Given the description of an element on the screen output the (x, y) to click on. 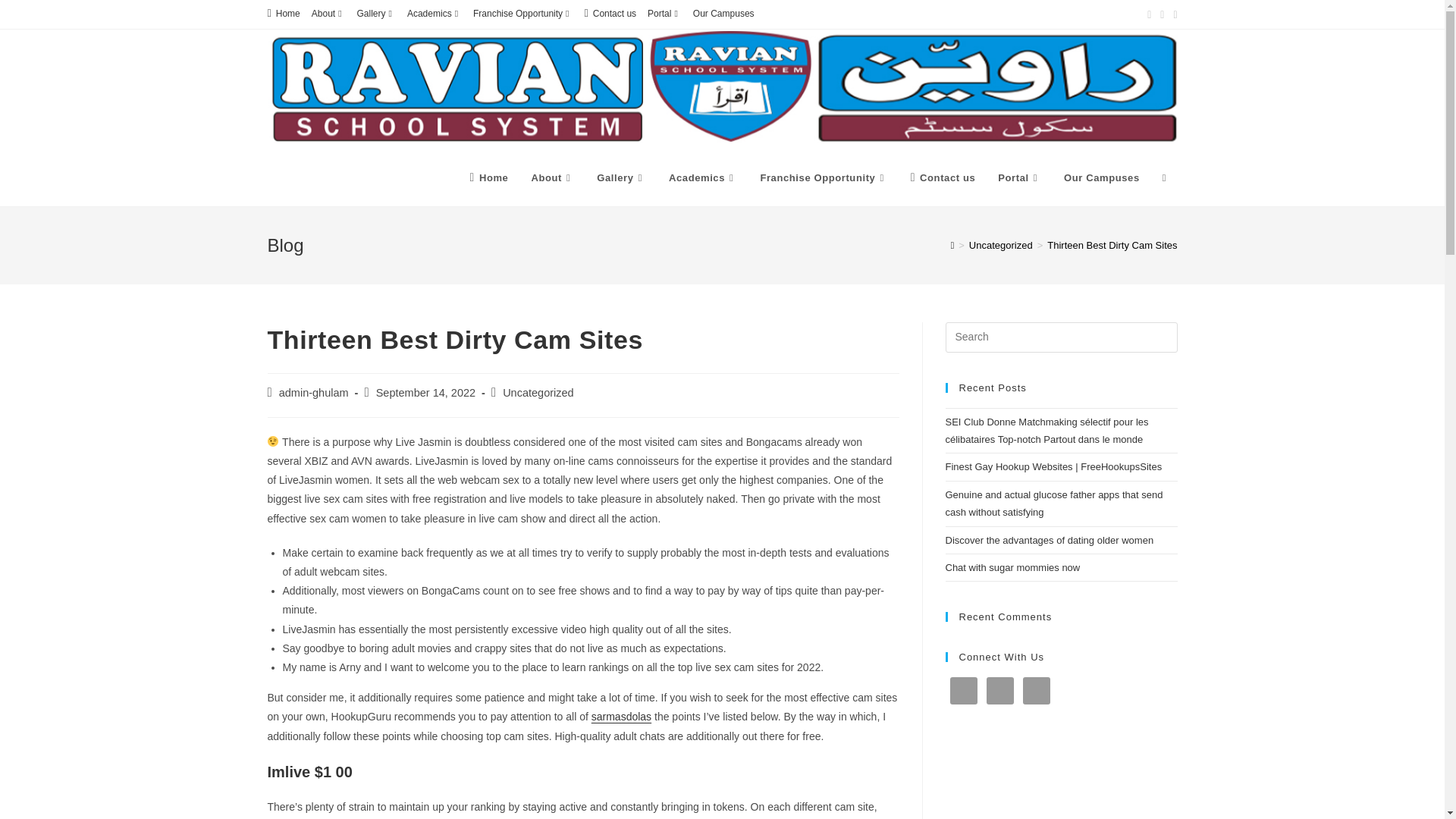
Contact us (609, 13)
Posts by admin-ghulam (314, 392)
About (328, 13)
Academics (434, 13)
About (552, 177)
Franchise Opportunity (522, 13)
Our Campuses (723, 13)
Home (488, 177)
Home (282, 13)
Portal (664, 13)
Gallery (376, 13)
